Given the description of an element on the screen output the (x, y) to click on. 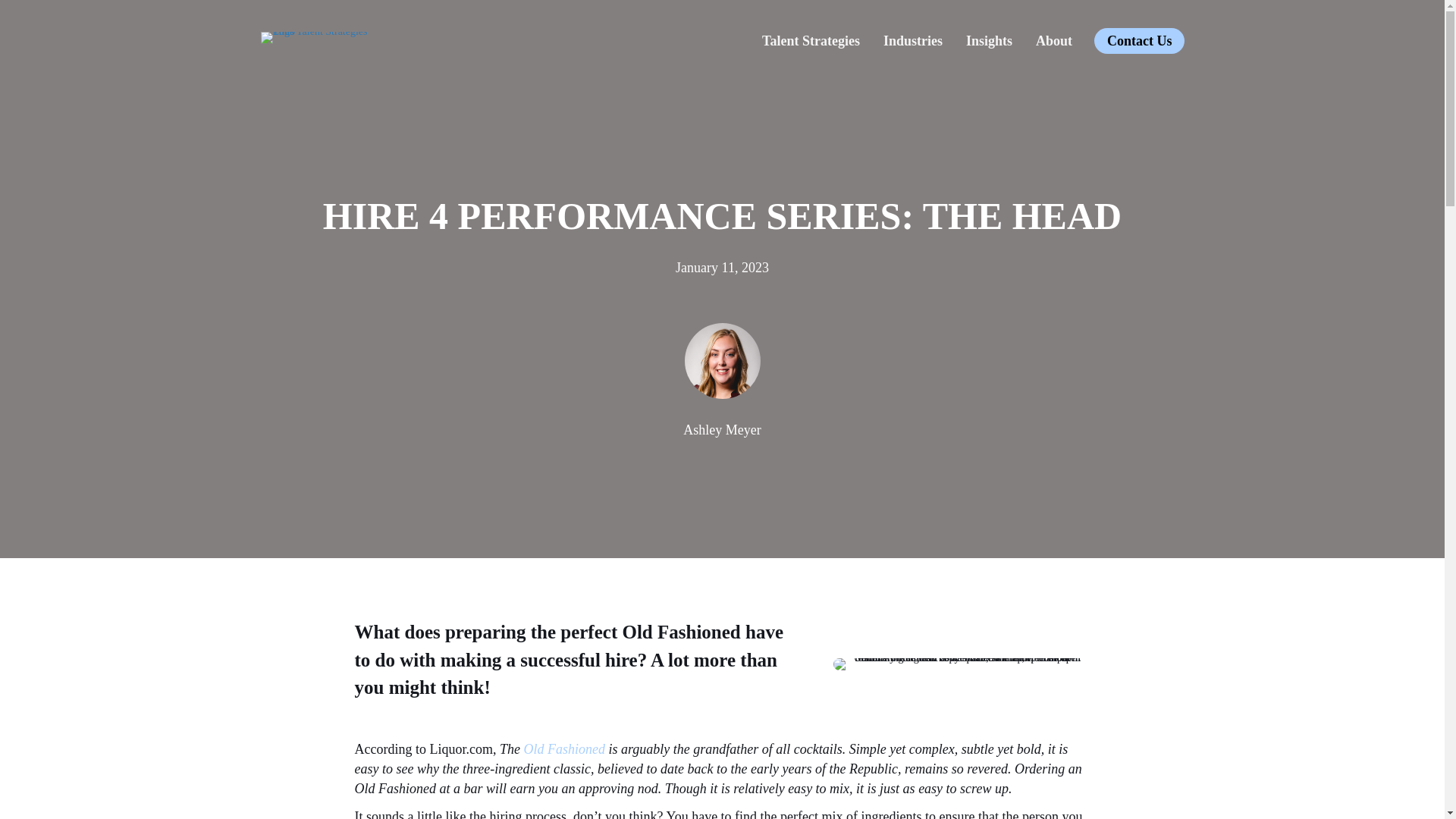
Old Fashioned (563, 749)
Contact Us (1139, 40)
Insights (989, 40)
Talent Strategies (810, 40)
Industries (912, 40)
About (1054, 40)
